Given the description of an element on the screen output the (x, y) to click on. 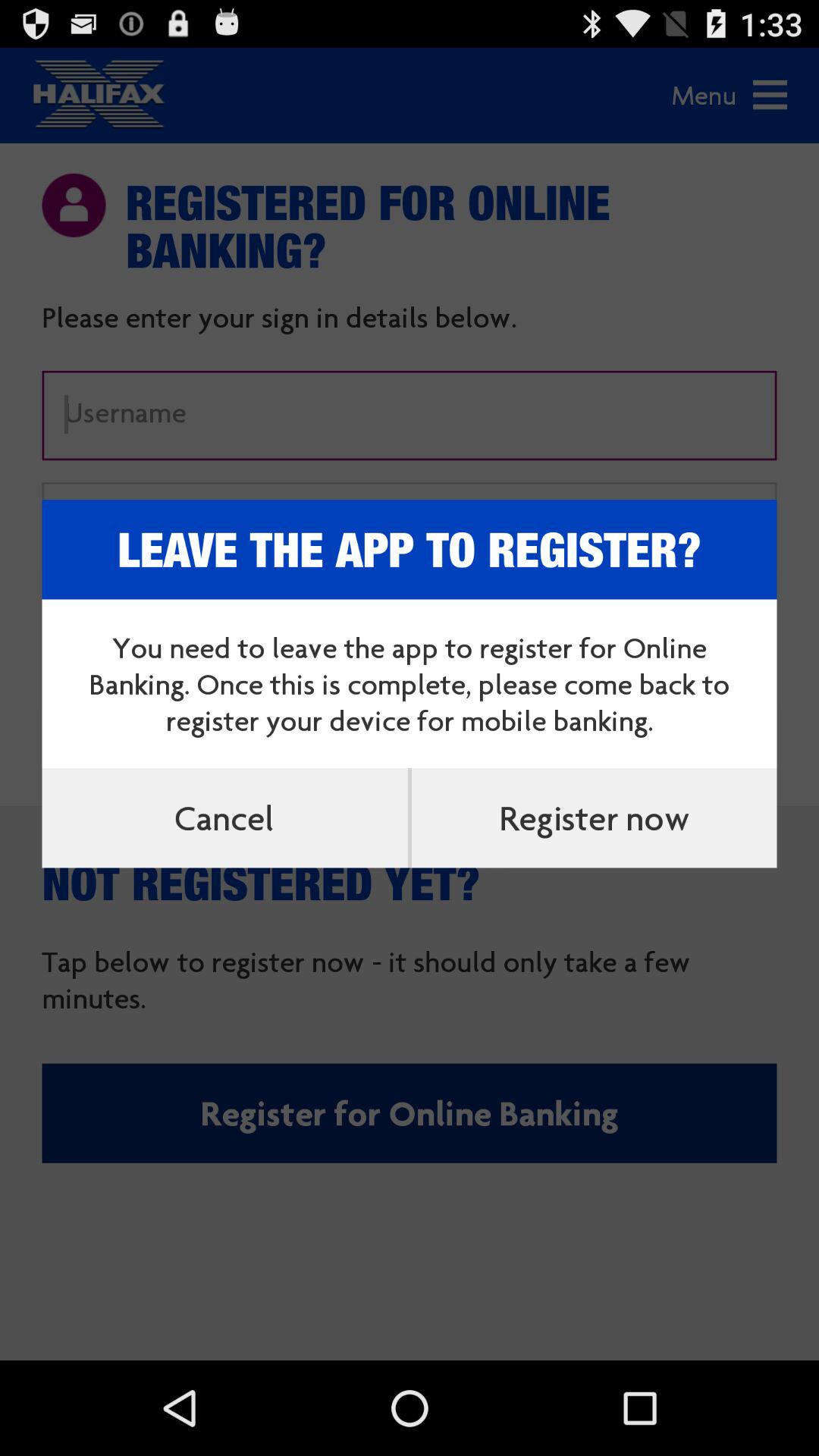
select item below you need to (593, 817)
